Given the description of an element on the screen output the (x, y) to click on. 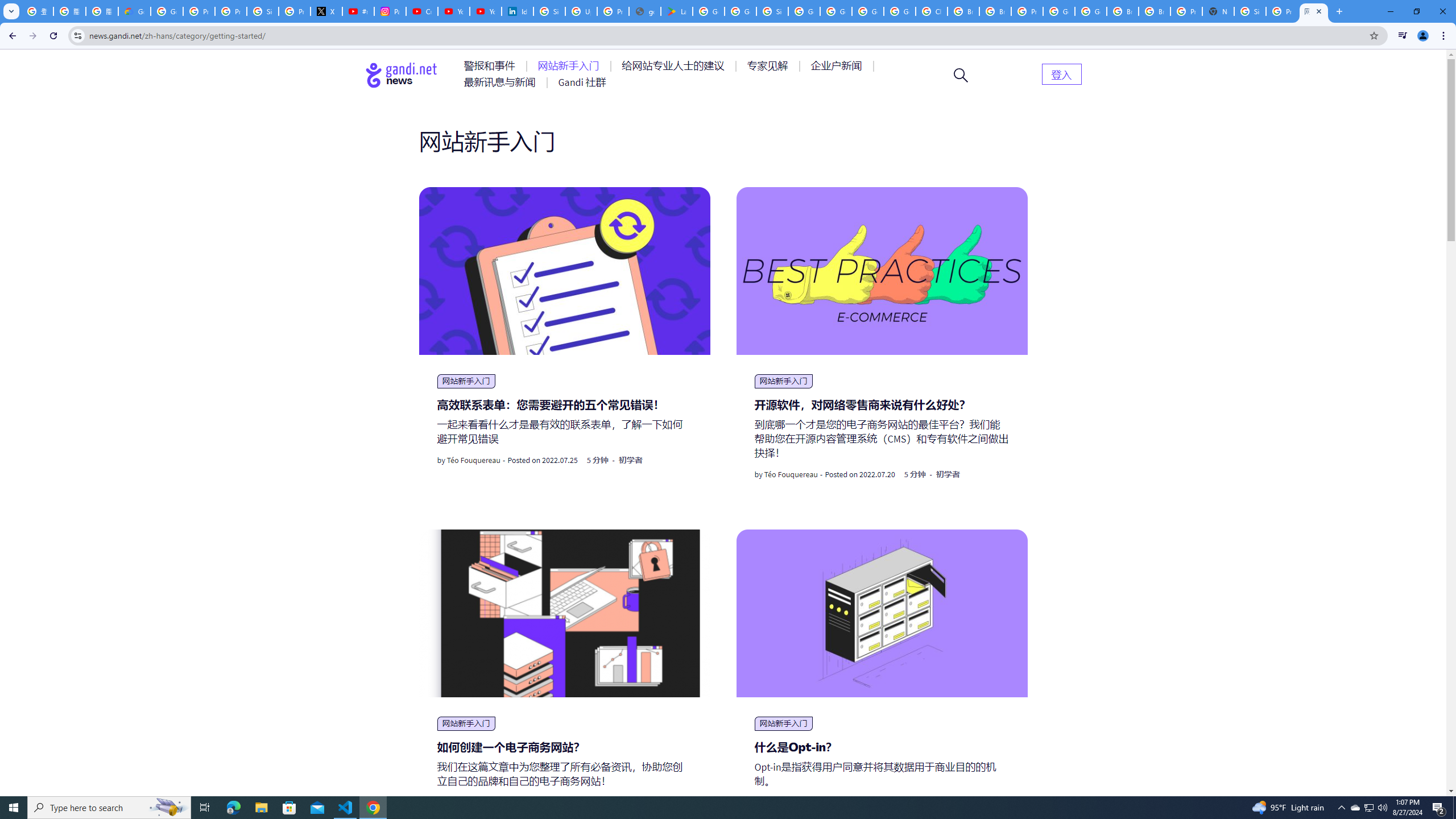
Last Shelter: Survival - Apps on Google Play (676, 11)
Google Cloud Privacy Notice (134, 11)
AutomationID: menu-item-77764 (769, 65)
AutomationID: menu-item-77766 (502, 82)
